Given the description of an element on the screen output the (x, y) to click on. 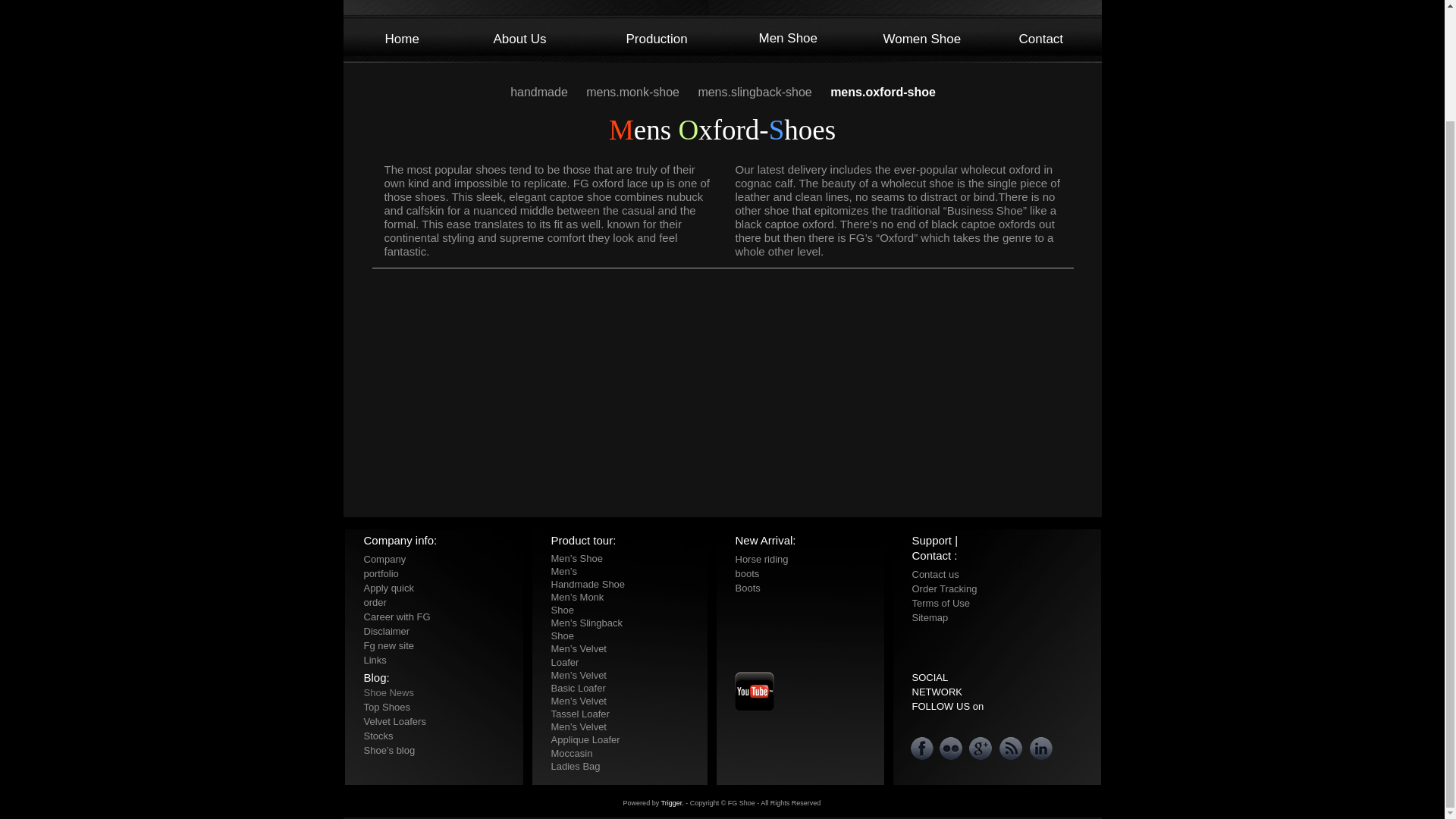
Ladies Bag (574, 766)
mens.monk-shoe (634, 91)
mens.slingback-shoe (756, 91)
Order Tracking (943, 588)
Terms of Use (940, 602)
Sitemap (929, 617)
Production (656, 38)
Horse riding boots (762, 565)
mens.oxford-shoe (882, 91)
Boots (747, 586)
Men Shoe (787, 38)
Moccasin (571, 753)
Contact us (934, 573)
Home (402, 38)
Women Shoe (921, 38)
